Given the description of an element on the screen output the (x, y) to click on. 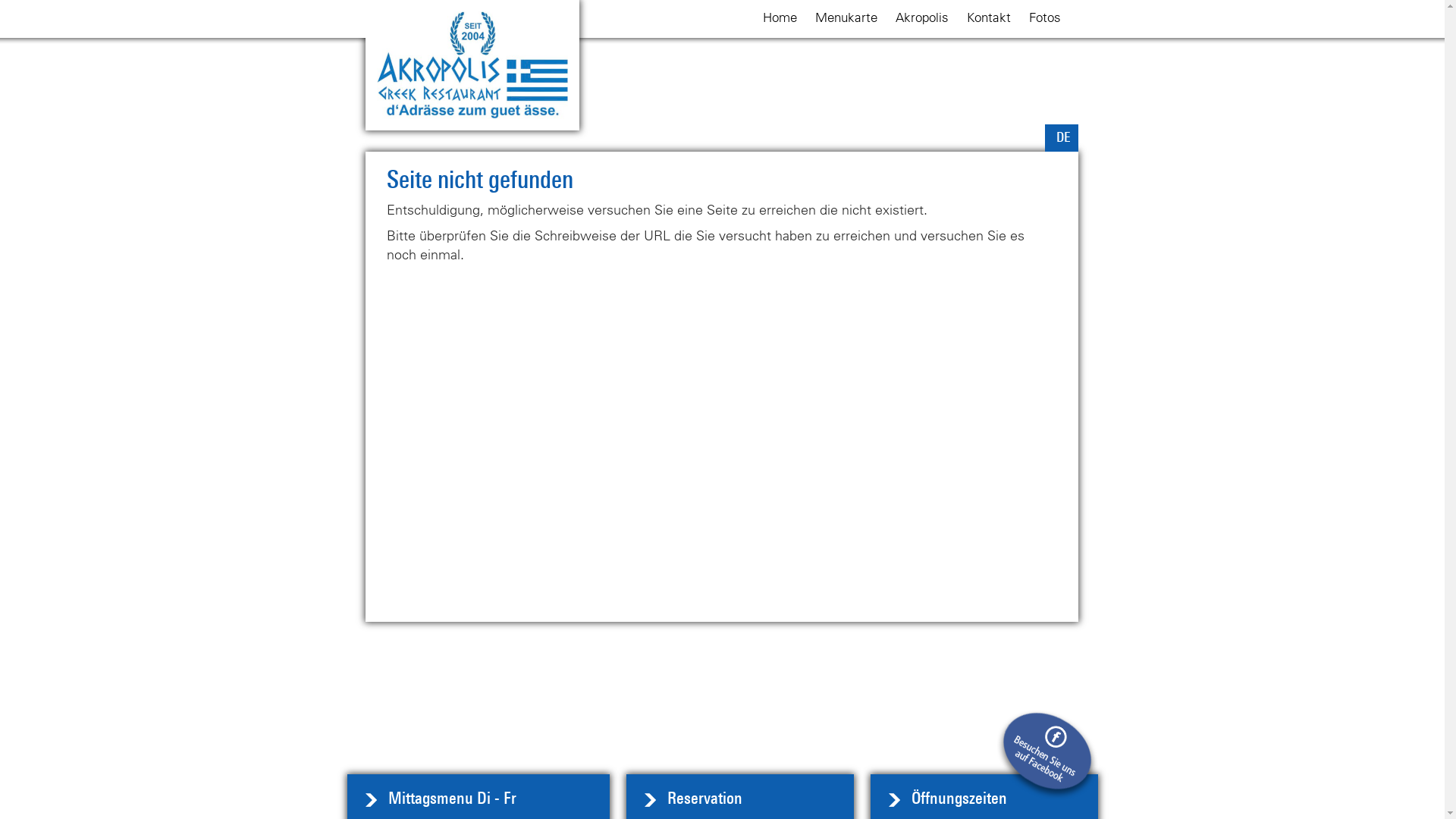
Akropolis Greek Restaurant Element type: hover (471, 65)
Kontakt Element type: text (988, 17)
Home Element type: text (779, 17)
Menukarte Element type: text (846, 17)
DE Element type: text (1063, 136)
Fotos Element type: text (1044, 17)
Akropolis Element type: text (921, 17)
